Given the description of an element on the screen output the (x, y) to click on. 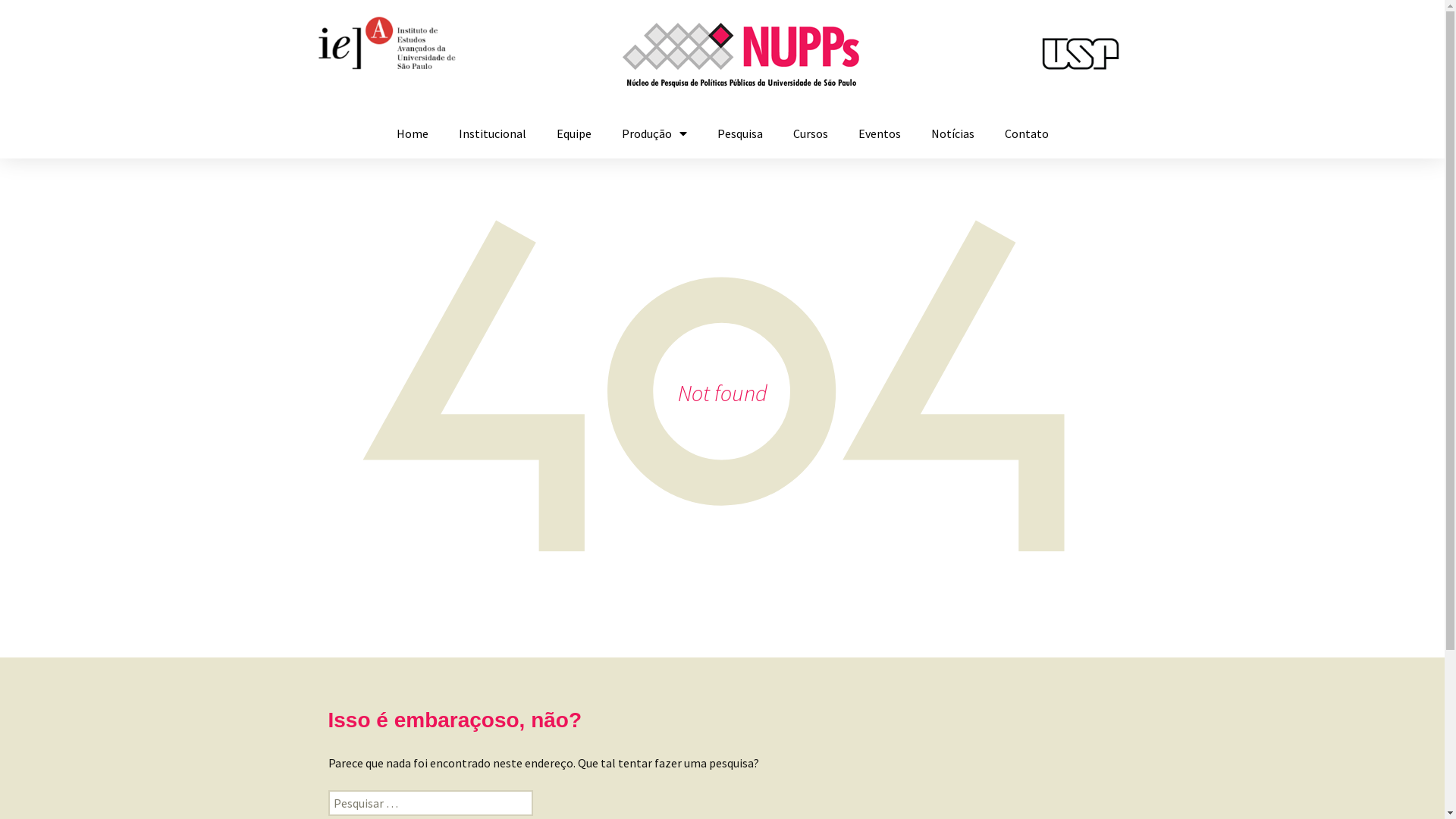
Pesquisa Element type: text (740, 133)
Institucional Element type: text (491, 133)
Contato Element type: text (1025, 133)
Pesquisar Element type: text (43, 16)
Cursos Element type: text (810, 133)
Equipe Element type: text (573, 133)
Home Element type: text (411, 133)
Eventos Element type: text (879, 133)
